Given the description of an element on the screen output the (x, y) to click on. 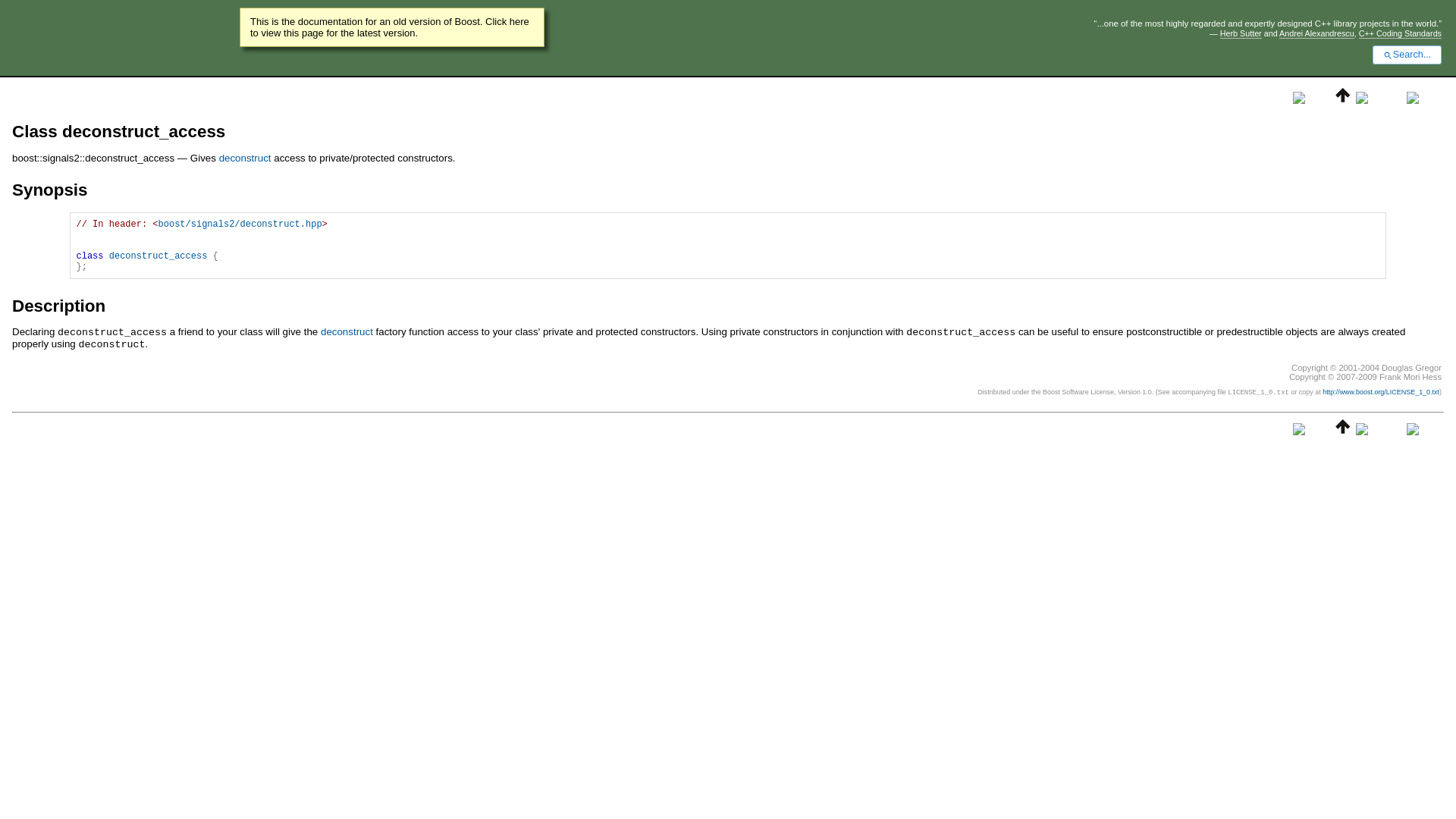
Andrei Alexandrescu (1316, 33)
Function deconstruct (244, 157)
deconstruct (346, 331)
Function deconstruct (346, 331)
Herb Sutter (1241, 33)
deconstruct (244, 157)
